Given the description of an element on the screen output the (x, y) to click on. 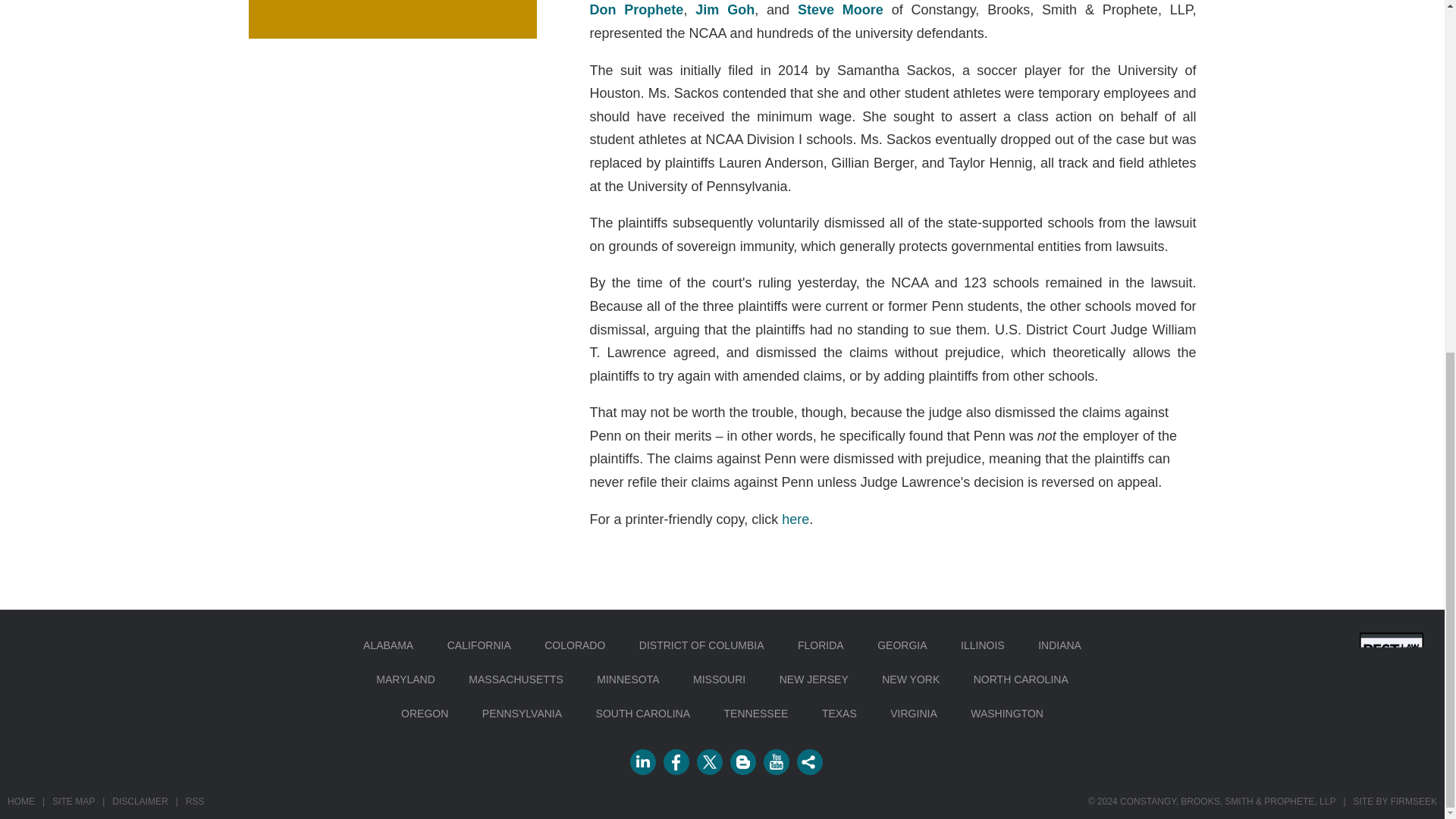
here (795, 519)
Blogs (742, 761)
Jim Goh (724, 9)
Share (809, 761)
Facebook (675, 761)
Steve Moore (840, 9)
Don Prophete (636, 9)
LinkedIn (641, 761)
YouTube (775, 761)
